Given the description of an element on the screen output the (x, y) to click on. 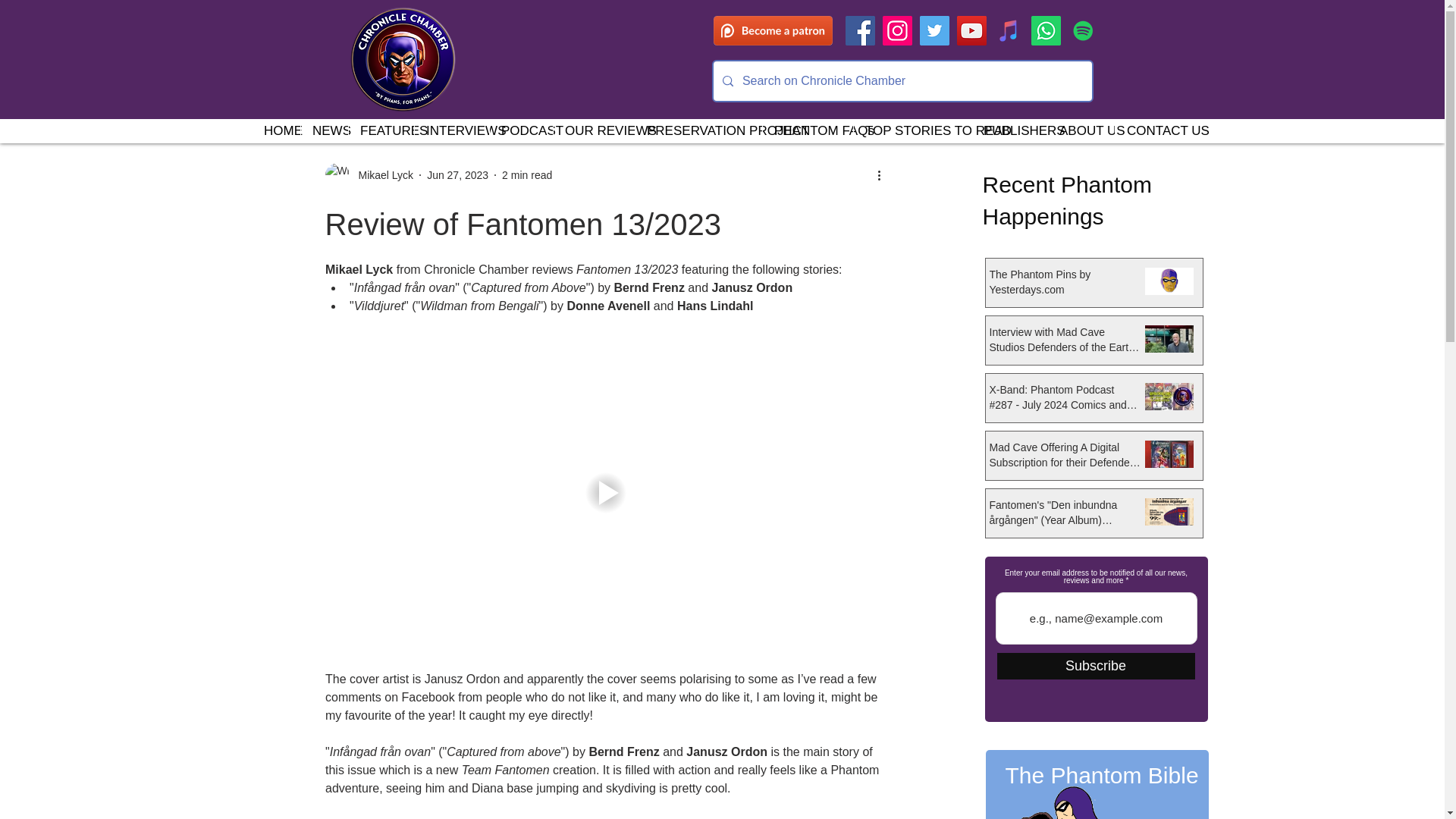
Chronical-Chamber-Logo-transparent.png (401, 59)
Jun 27, 2023 (456, 174)
2 min read (526, 174)
Mikael Lyck (381, 174)
INTERVIEWS (451, 130)
HOME (275, 130)
NEWS (323, 130)
